Given the description of an element on the screen output the (x, y) to click on. 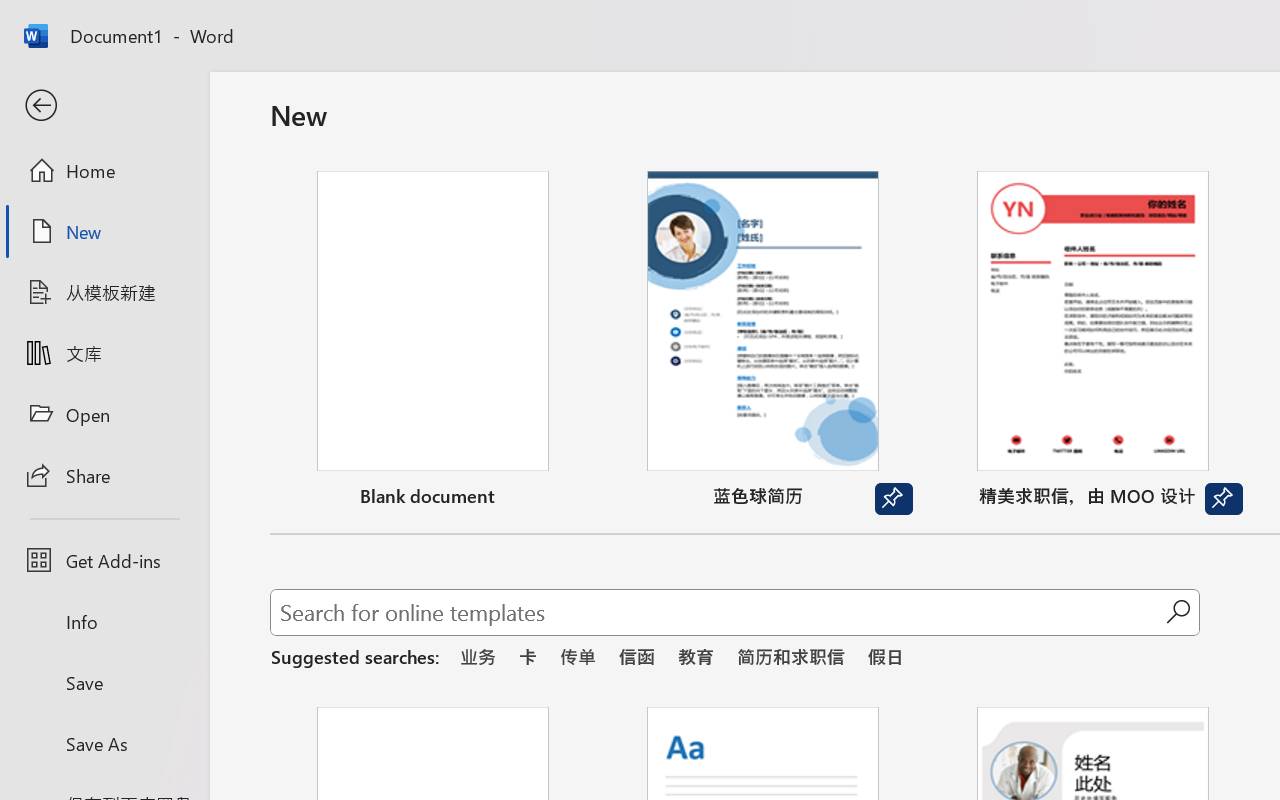
Google Workspace Admin Community (89, 22)
Privacy Checkup (1033, 22)
Chromebook (1020, 212)
Kids (385, 132)
Phone (675, 212)
Watch (1160, 212)
